Given the description of an element on the screen output the (x, y) to click on. 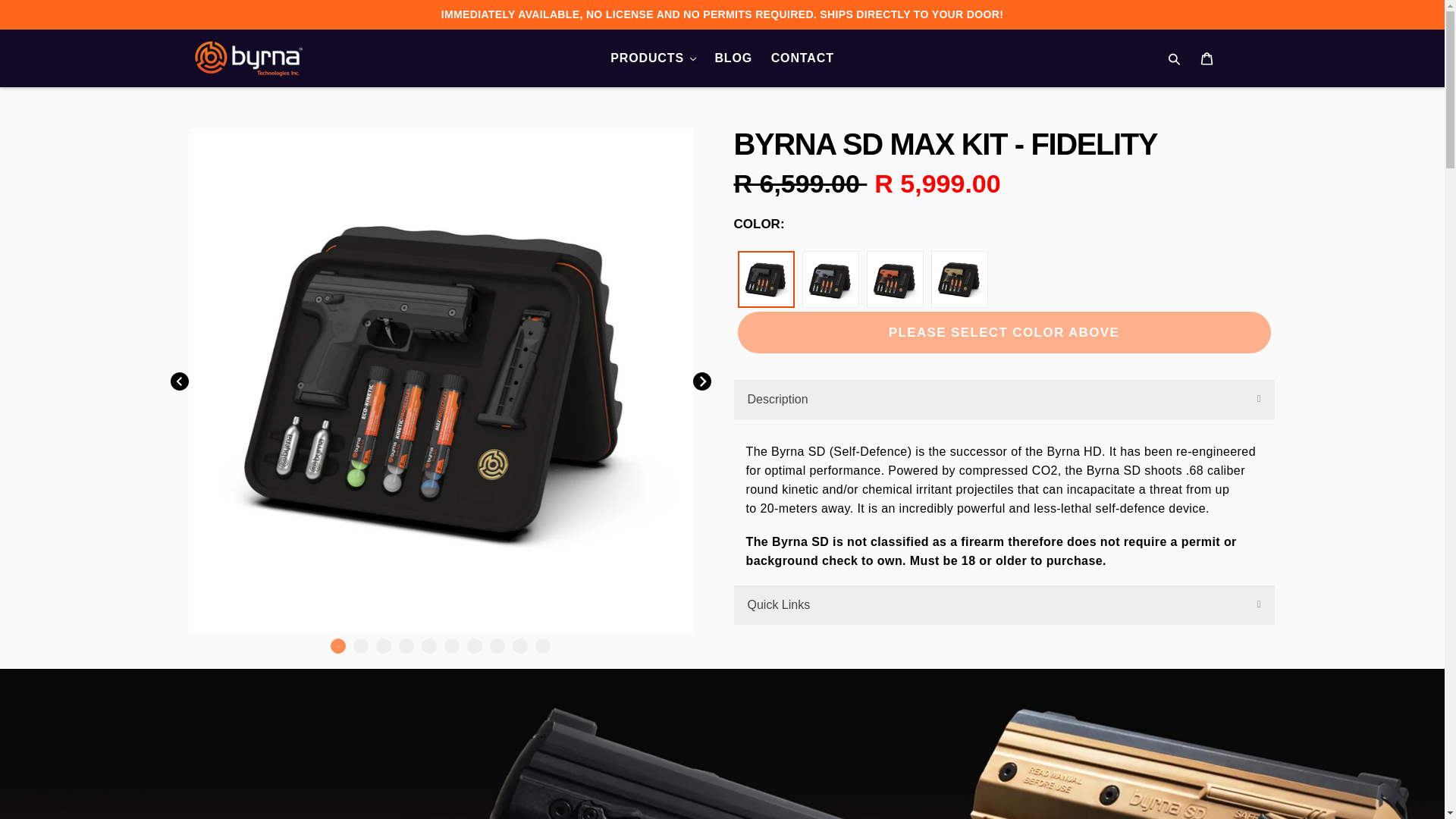
BLOG (733, 57)
Slide 3 (383, 645)
Slide 8 (497, 645)
Slide 7 (474, 645)
Submit (1175, 58)
CONTACT (801, 57)
Slide 4 (405, 645)
Cart (1208, 58)
Slide 5 (429, 645)
Slide 1 (338, 645)
Slide 2 (360, 645)
Slide 6 (452, 645)
